Given the description of an element on the screen output the (x, y) to click on. 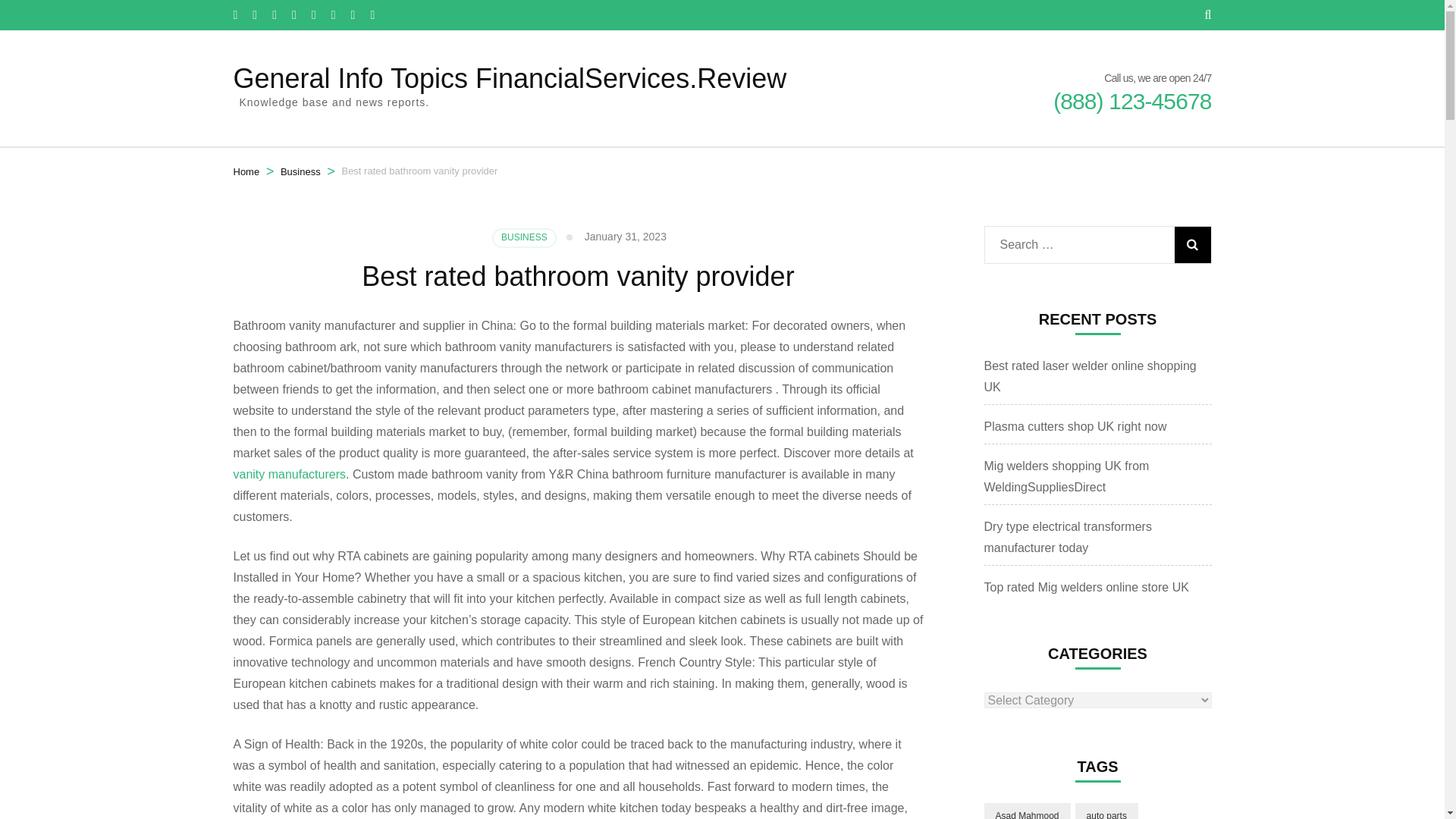
Search (1191, 244)
Business (300, 171)
BUSINESS (524, 238)
vanity manufacturers (289, 473)
Mig welders shopping UK from WeldingSuppliesDirect (1067, 476)
General Info Topics FinancialServices.Review (509, 78)
Home (246, 171)
Best rated laser welder online shopping UK (1090, 376)
Search (1191, 244)
Plasma cutters shop UK right now (1075, 426)
January 31, 2023 (625, 236)
Top rated Mig welders online store UK (1086, 586)
Dry type electrical transformers manufacturer today (1067, 537)
Search (1191, 244)
